Given the description of an element on the screen output the (x, y) to click on. 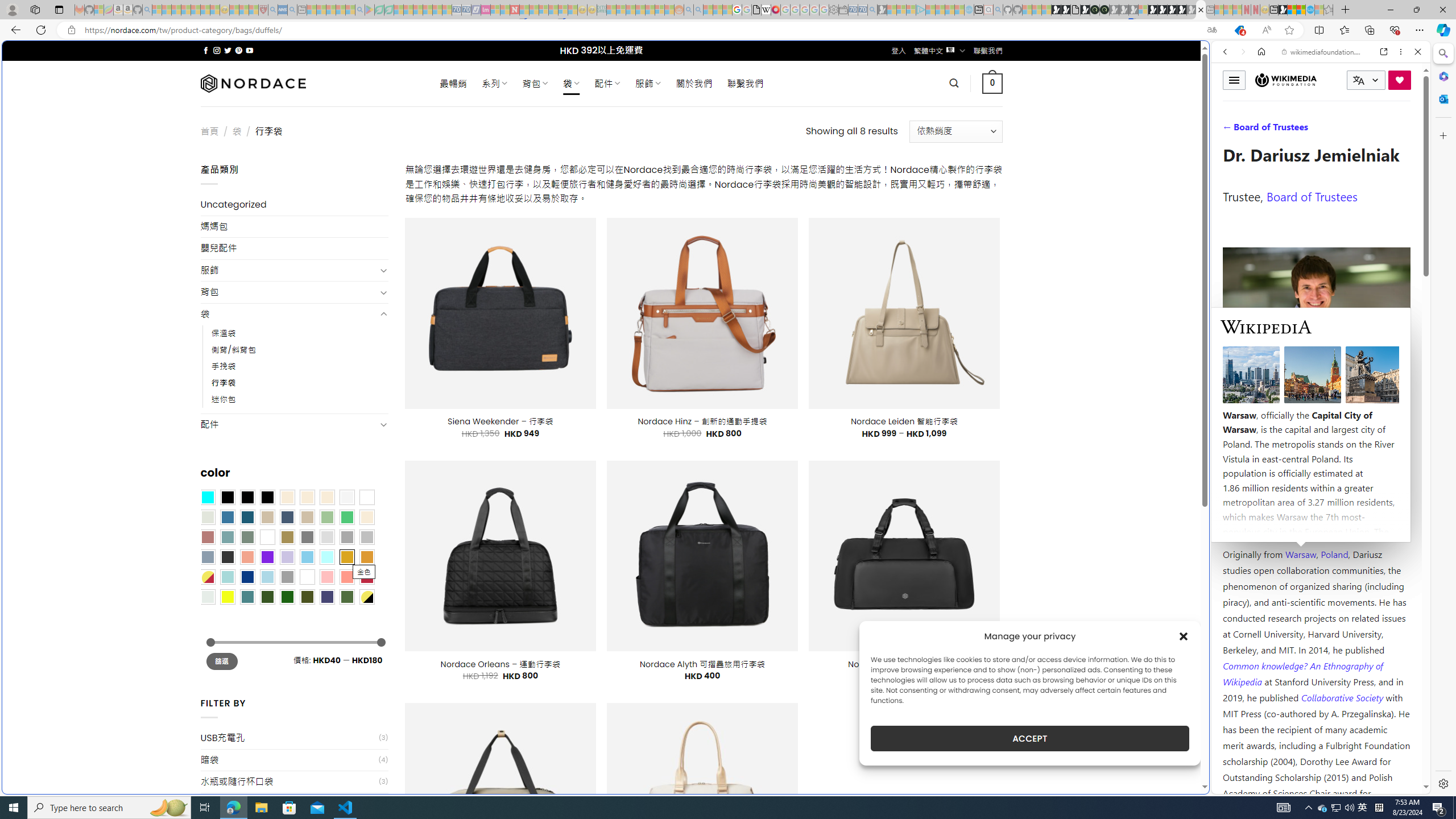
Terms of Use Agreement - Sleeping (378, 9)
Donate now (1399, 80)
Profile on Meta-Wiki (1273, 405)
